Given the description of an element on the screen output the (x, y) to click on. 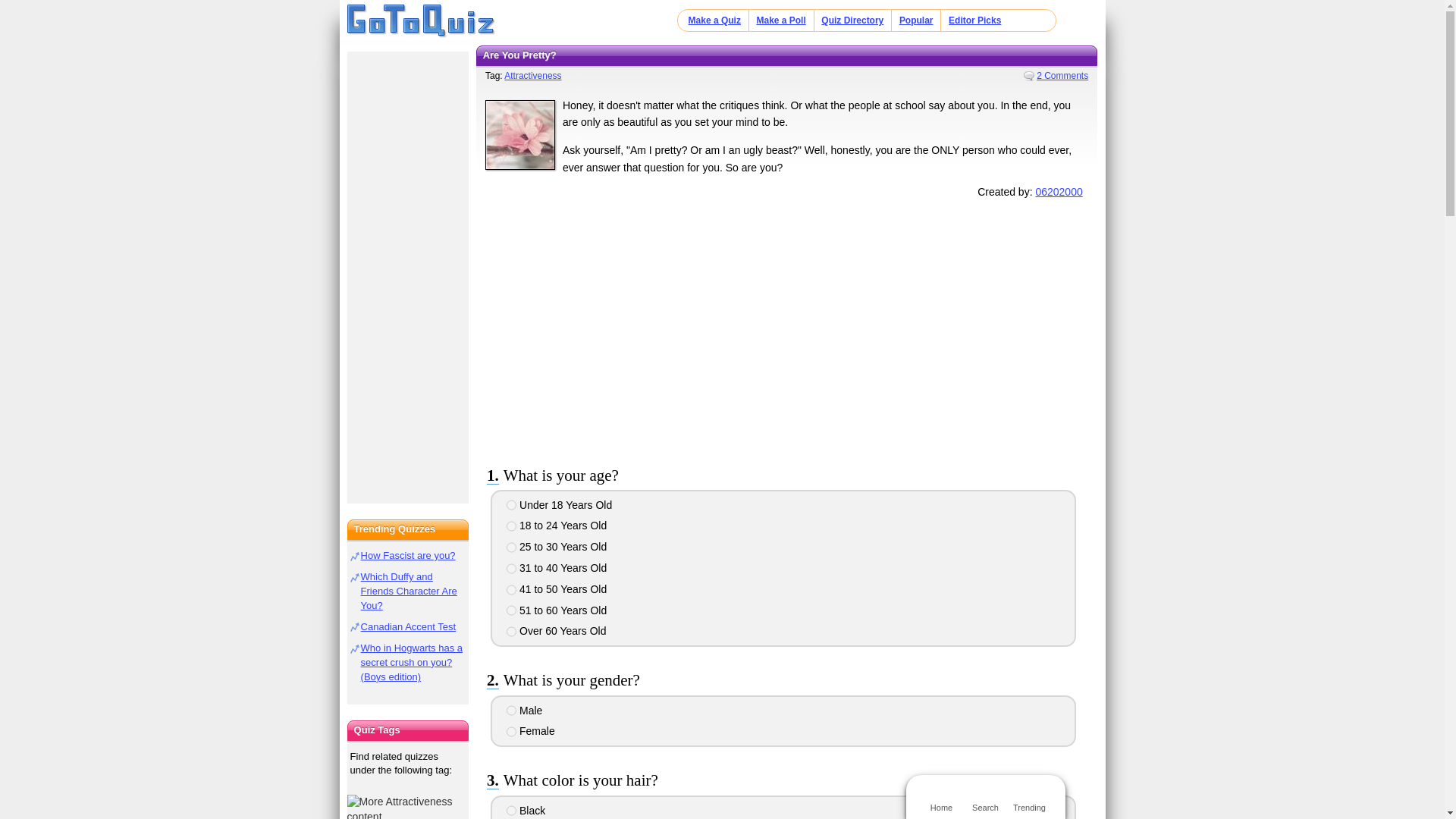
How Fascist are you? (408, 555)
Canadian Accent Test (409, 626)
3 (511, 547)
Editor Picks (975, 20)
Which Duffy and Friends Character Are You? (409, 590)
2 Comments (1055, 75)
Search (984, 796)
Quiz Directory (852, 20)
Popular (916, 20)
Attractiveness (531, 75)
Home (421, 20)
5 (511, 589)
06202000 (1058, 191)
Make a Poll (780, 20)
6 (511, 610)
